Given the description of an element on the screen output the (x, y) to click on. 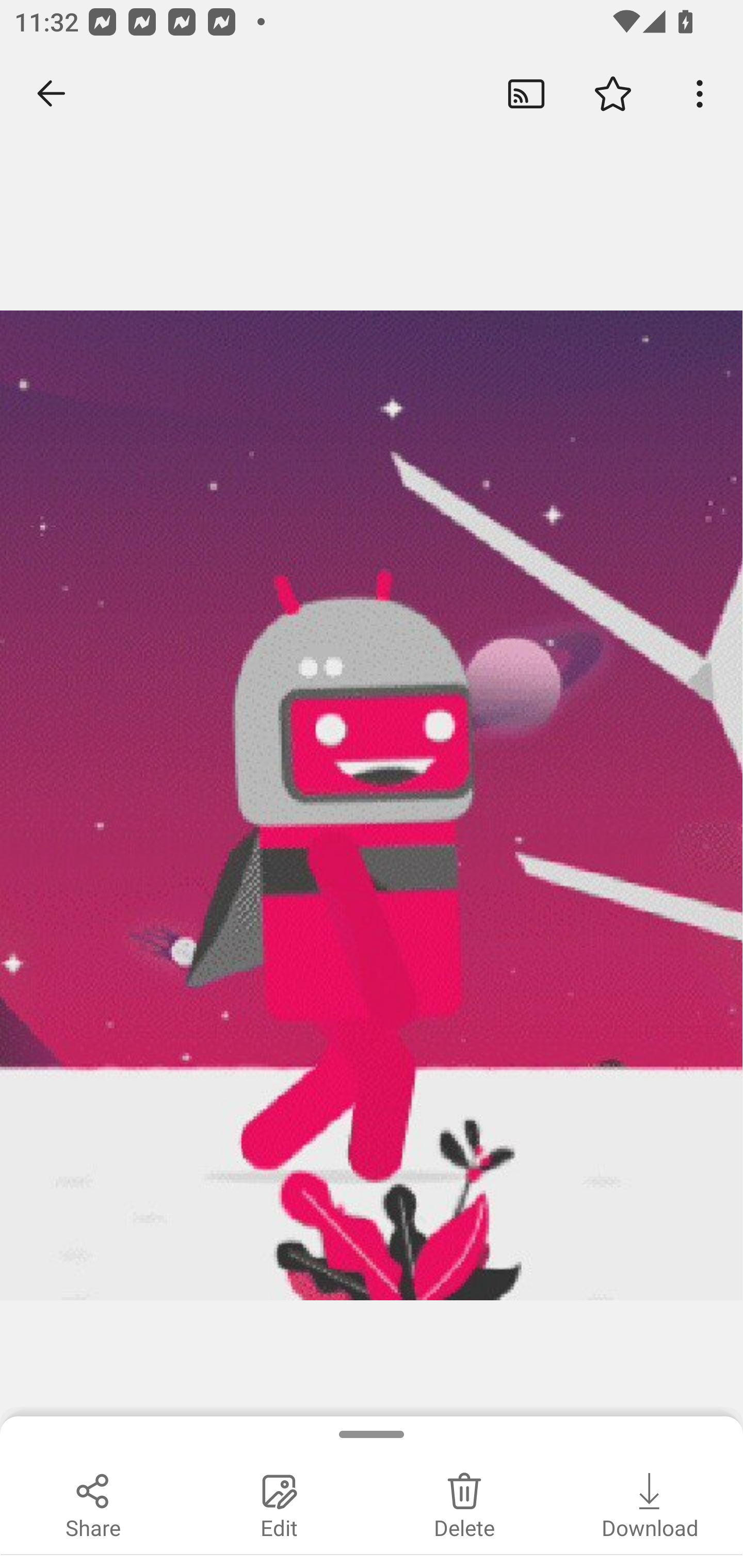
Navigate up (50, 93)
Cast. Disconnected (525, 93)
Add to Favorites button (612, 93)
button (699, 93)
Share (92, 1502)
Edit (278, 1502)
Delete (464, 1502)
Download (650, 1502)
